Given the description of an element on the screen output the (x, y) to click on. 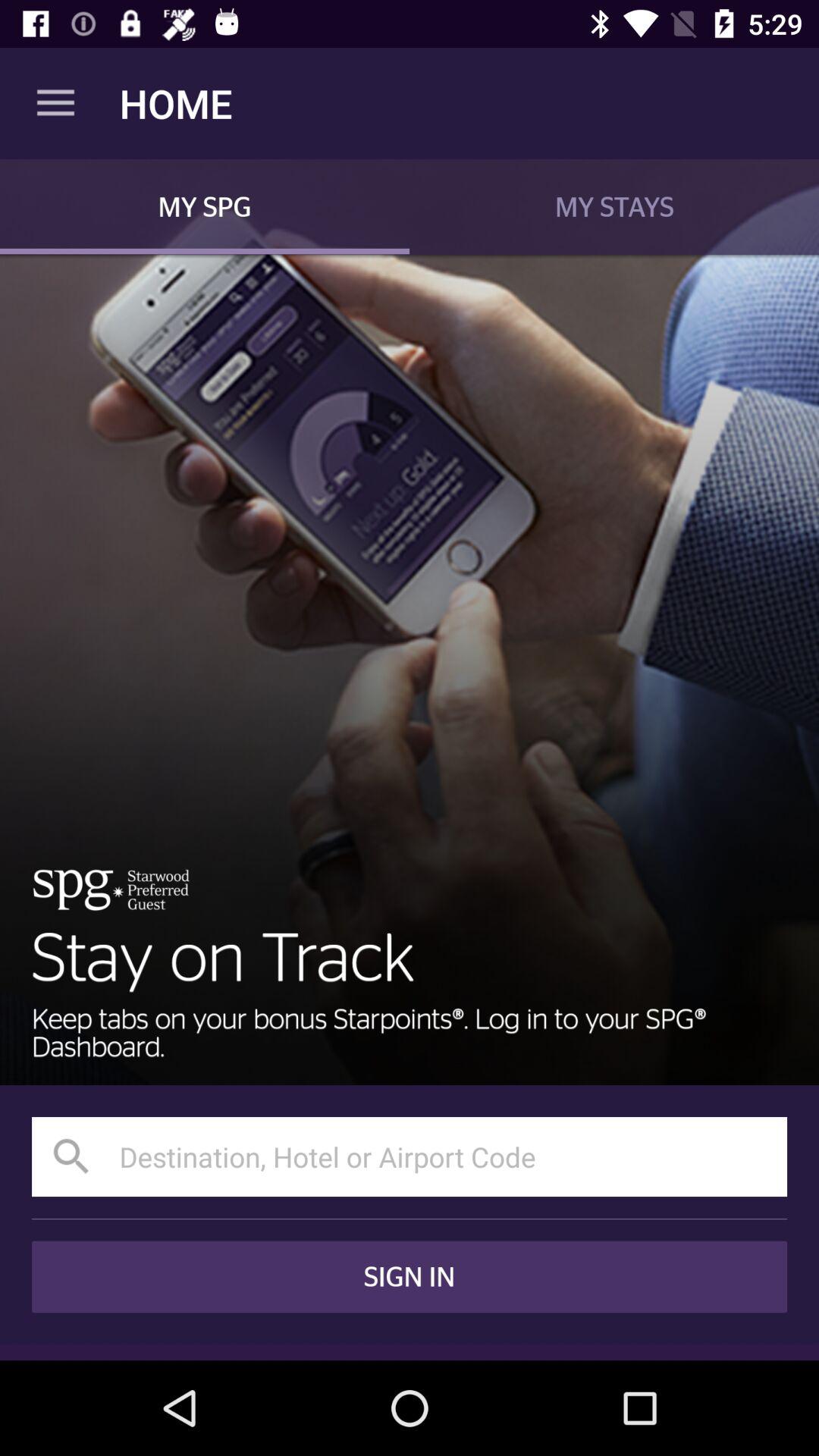
choose the search bar above sign in (409, 1156)
